Given the description of an element on the screen output the (x, y) to click on. 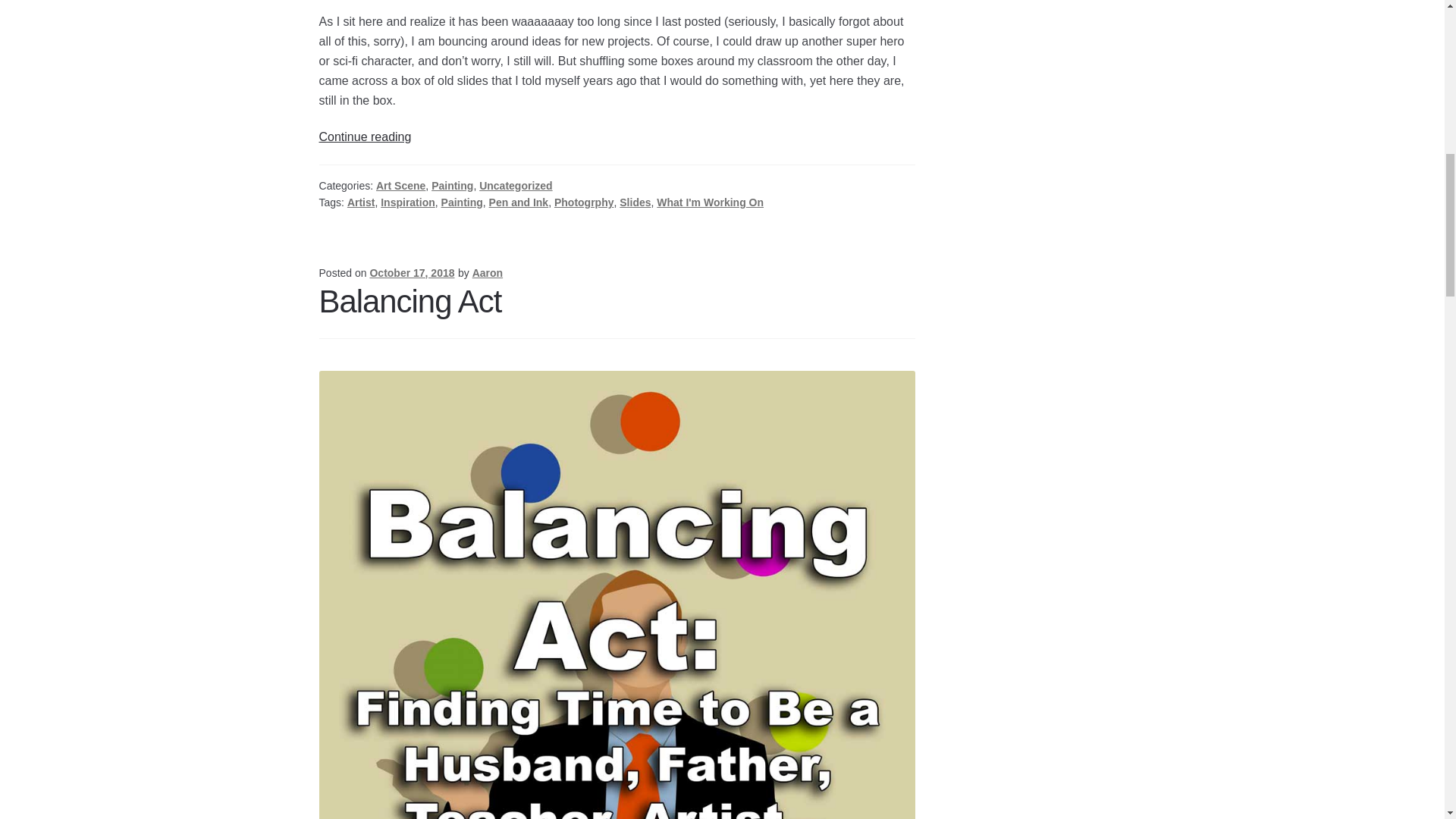
Balancing Act (410, 301)
Painting (462, 202)
Pen and Ink (518, 202)
Photogrphy (584, 202)
Artist (361, 202)
Painting (451, 185)
Inspiration (407, 202)
What I'm Working On (709, 202)
Uncategorized (515, 185)
October 17, 2018 (411, 272)
Aaron (486, 272)
Art Scene (400, 185)
Slides (365, 136)
